Given the description of an element on the screen output the (x, y) to click on. 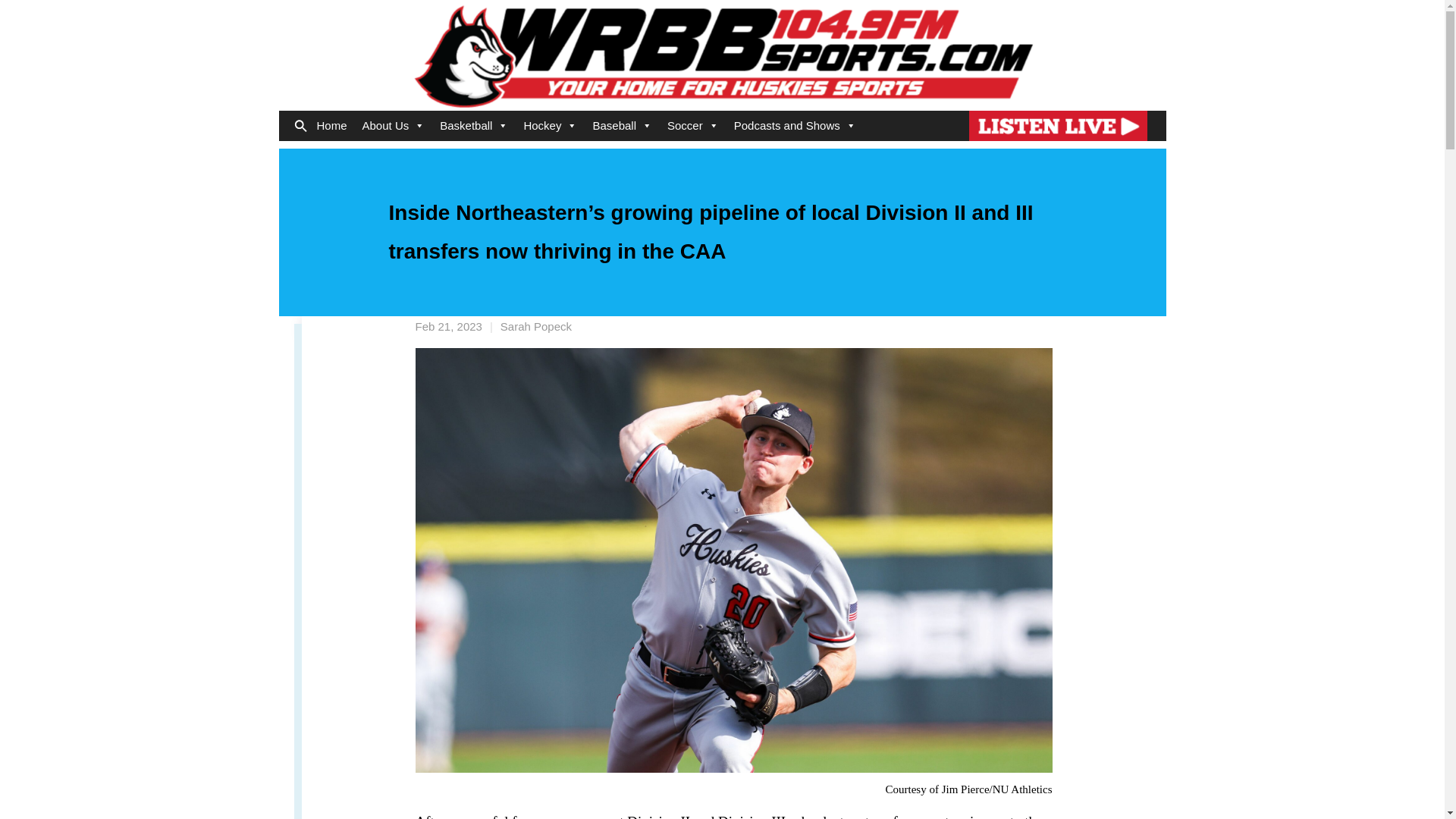
Basketball (473, 125)
Baseball (622, 125)
View all posts by Sarah Popeck (536, 326)
Soccer (692, 125)
About Us (393, 125)
Hockey (550, 125)
Podcasts and Shows (794, 125)
Home (331, 125)
